Given the description of an element on the screen output the (x, y) to click on. 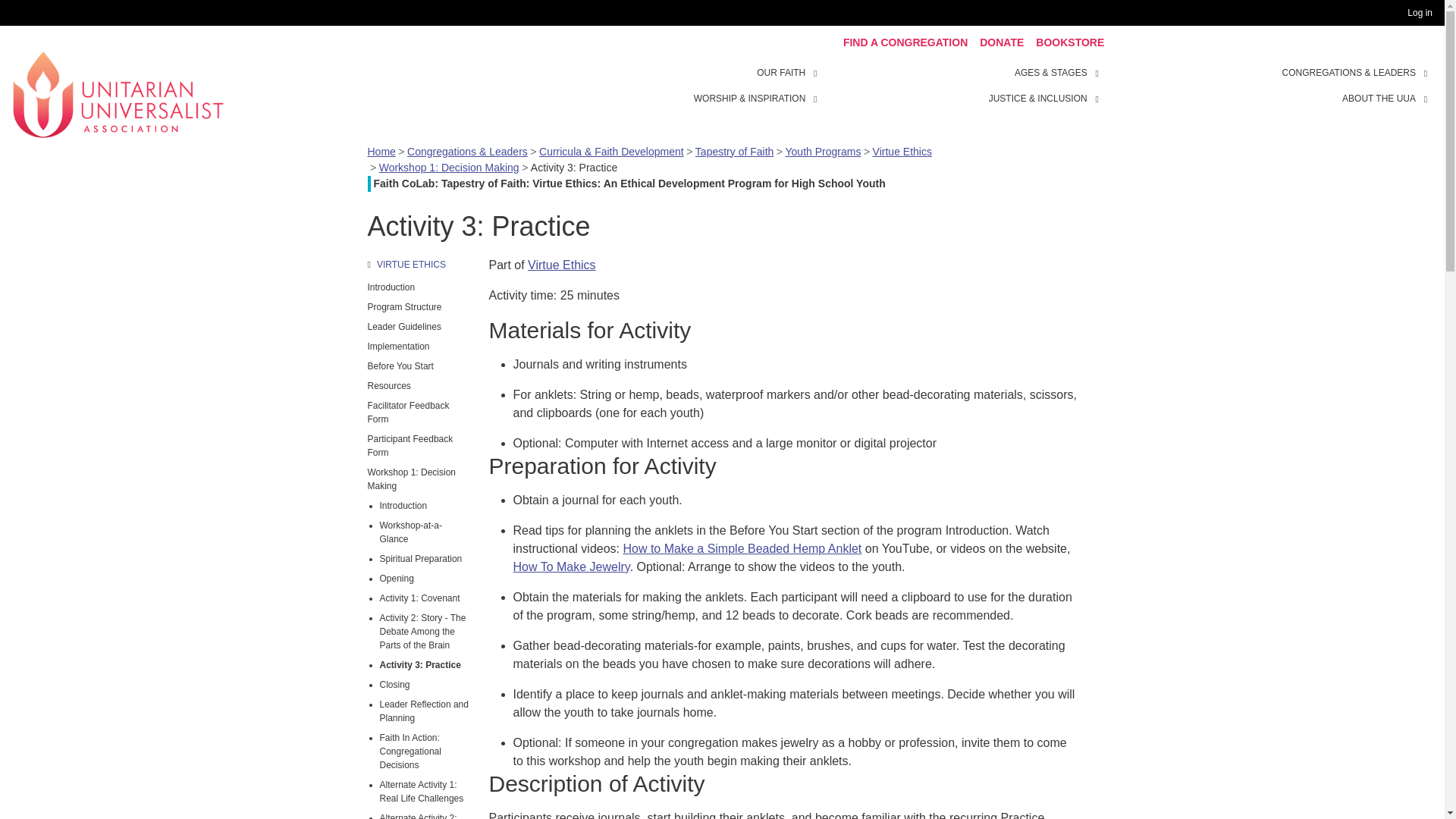
BOOKSTORE (1069, 42)
OUR FAITH (817, 71)
Log in (1423, 12)
FIND A CONGREGATION (905, 42)
DONATE (1001, 42)
Site Menu (962, 85)
OUR FAITH (781, 72)
Go up this menu (418, 264)
Home (117, 92)
